Given the description of an element on the screen output the (x, y) to click on. 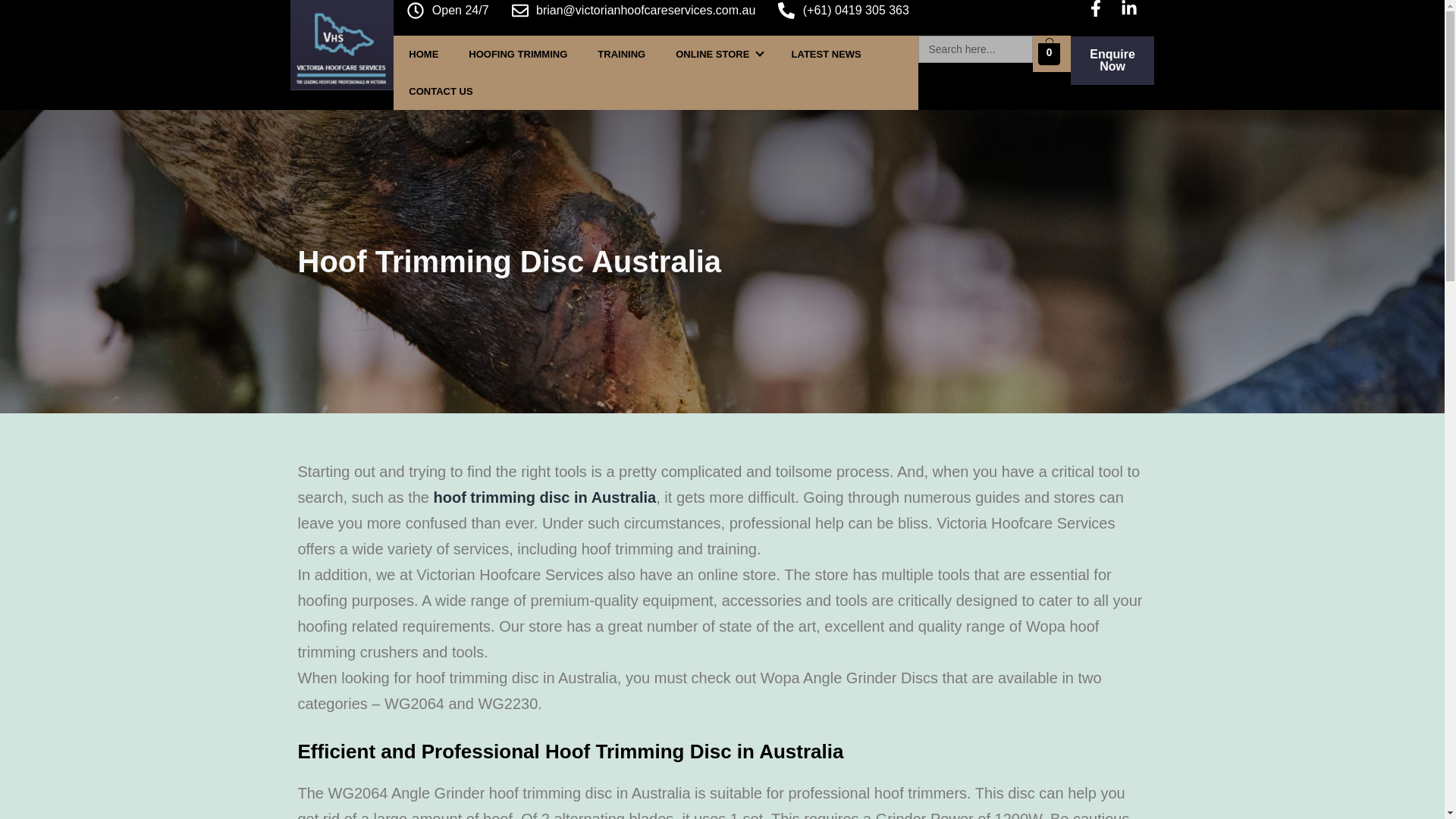
0 (1048, 52)
HOOFING TRIMMING (517, 54)
Enquire Now (1112, 60)
TRAINING (621, 54)
View your shopping cart (1048, 52)
HOME (422, 54)
ONLINE STORE (718, 54)
CONTACT US (440, 90)
LATEST NEWS (826, 54)
